Given the description of an element on the screen output the (x, y) to click on. 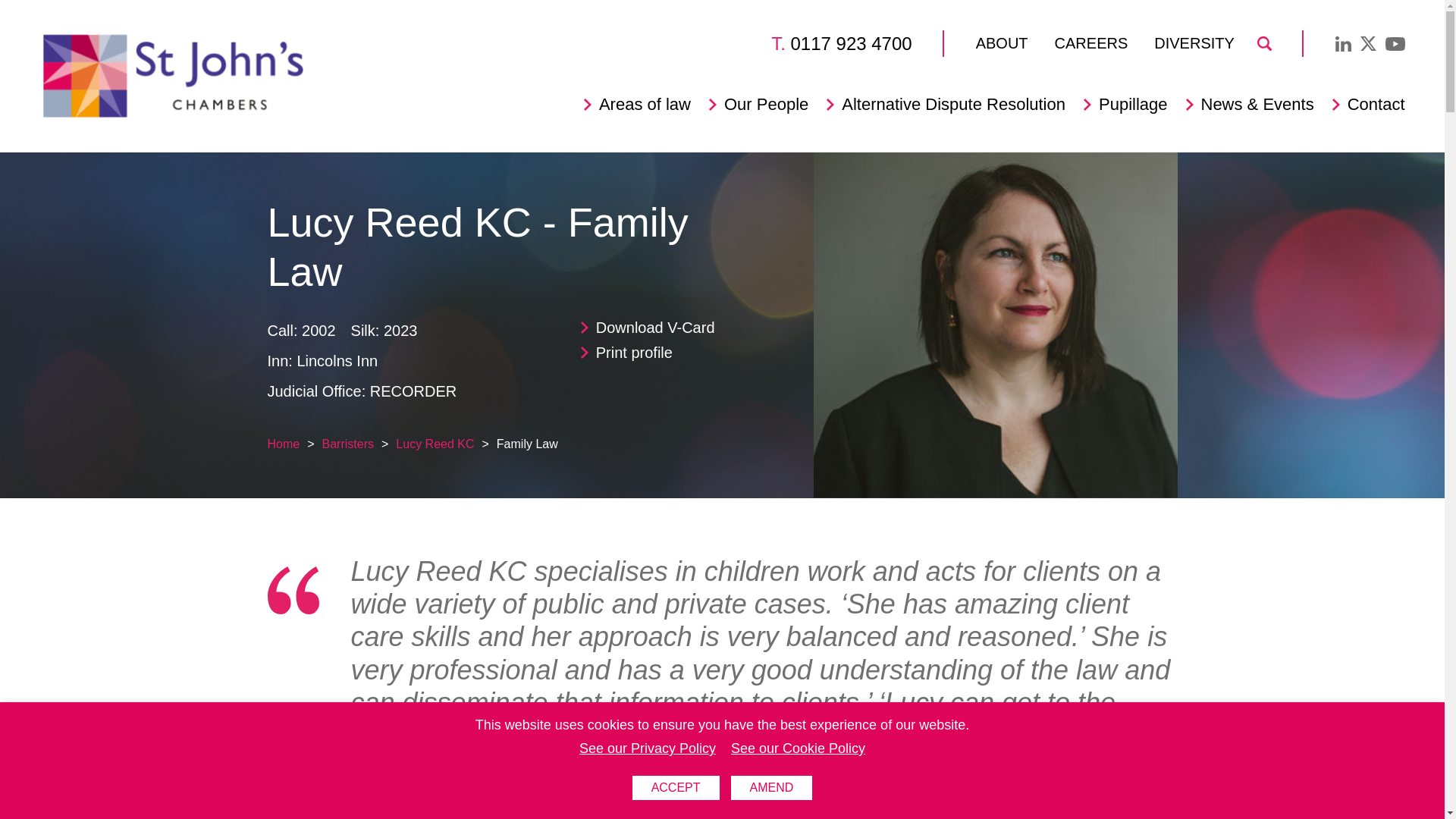
ABOUT (1001, 43)
0117 923 4700 (850, 43)
Areas of law (644, 104)
CAREERS (1091, 43)
DIVERSITY (1194, 43)
